Given the description of an element on the screen output the (x, y) to click on. 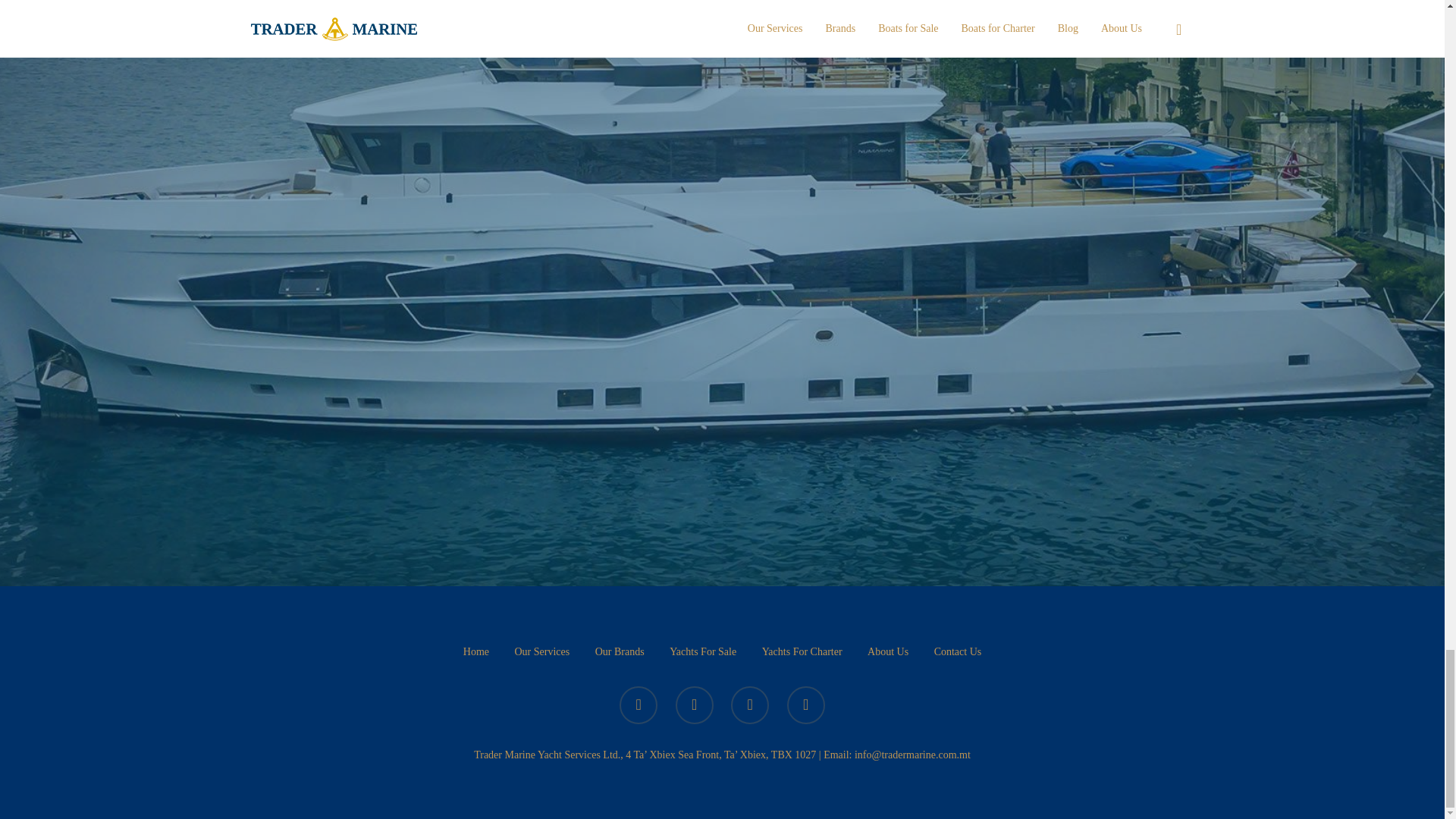
Yachts For Sale (702, 651)
Our Brands (620, 651)
Home (476, 651)
Our Services (541, 651)
Yachts For Charter (802, 651)
